Given the description of an element on the screen output the (x, y) to click on. 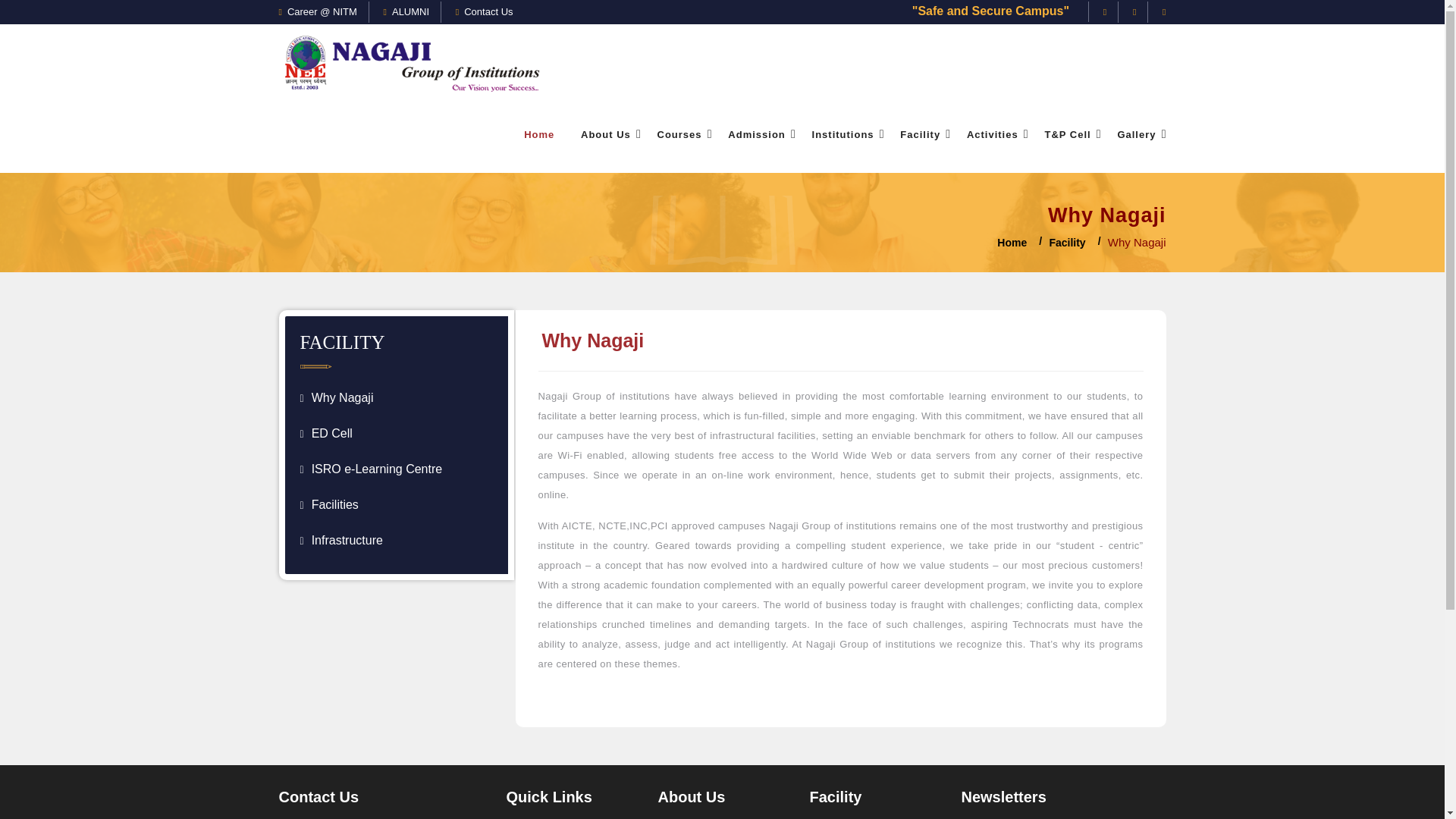
Institutions (842, 134)
About Us (605, 134)
Contact Us (484, 10)
Admission (755, 134)
Courses (679, 134)
Home (538, 134)
"Safe and Secure Campus" (992, 10)
Facility (919, 134)
ALUMNI (406, 10)
